Given the description of an element on the screen output the (x, y) to click on. 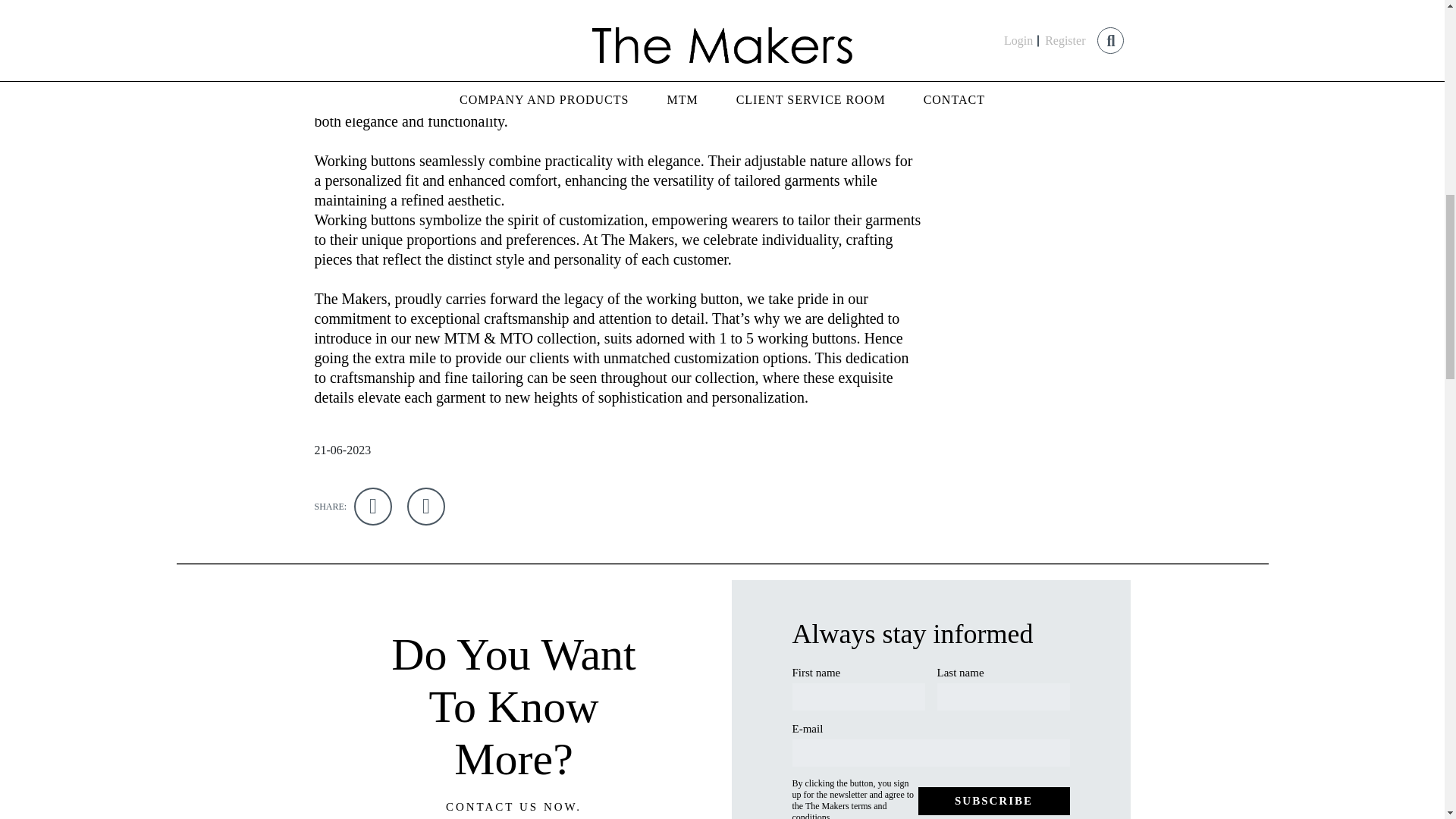
CONTACT US (491, 806)
SUBSCRIBE (992, 800)
